Given the description of an element on the screen output the (x, y) to click on. 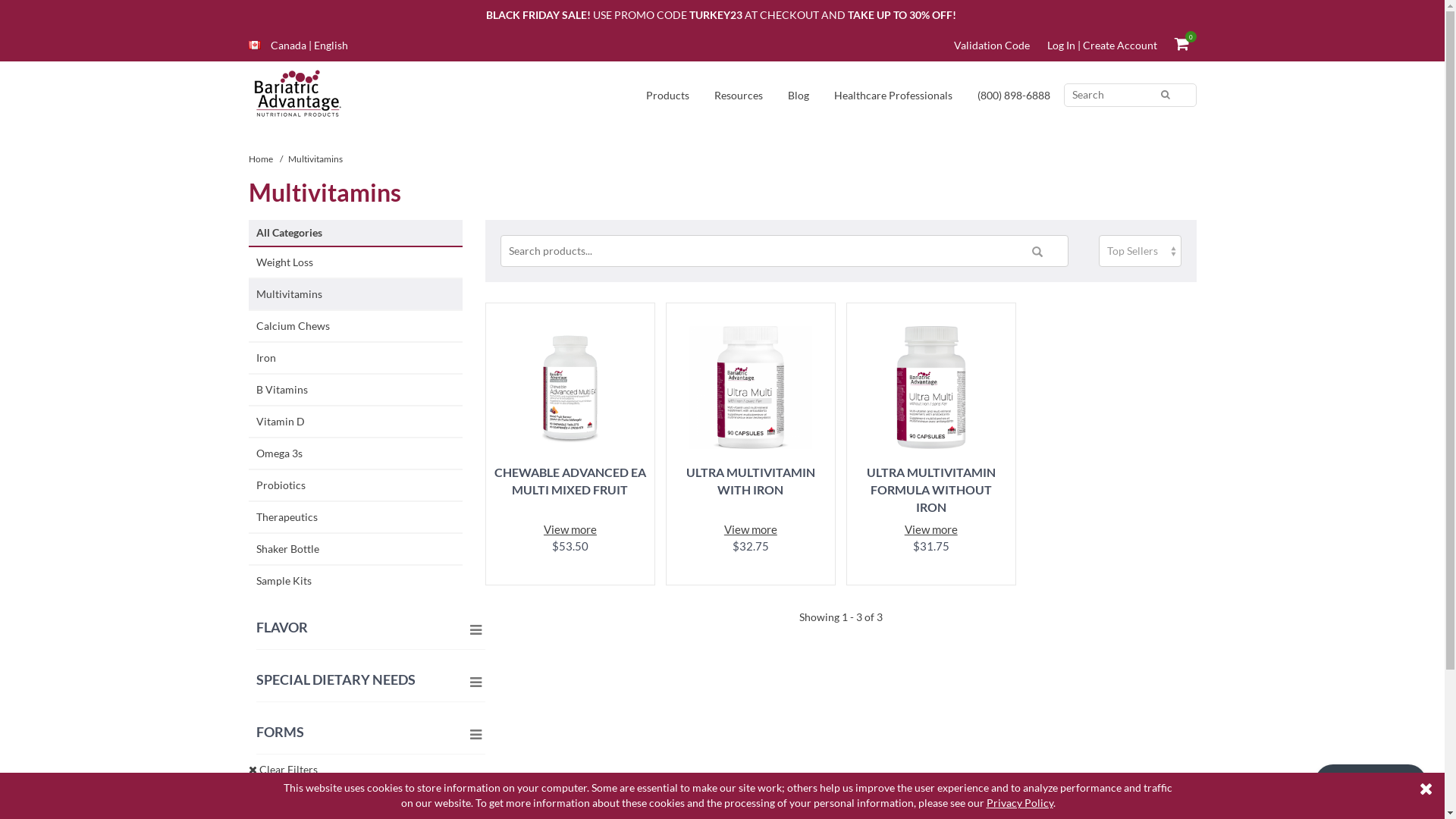
B Vitamins Element type: text (355, 390)
Omega 3s Element type: text (355, 454)
Clear Filters Element type: text (282, 768)
Weight Loss Element type: text (355, 263)
0 Element type: text (1180, 44)
Calcium Chews Element type: text (355, 326)
Privacy Policy Element type: text (1018, 803)
Healthcare Professionals Element type: text (893, 96)
Probiotics Element type: text (355, 486)
CHEWABLE ADVANCED EA MULTI MIXED FRUIT Element type: text (569, 489)
View more Element type: text (750, 529)
Home Element type: text (260, 158)
All Categories Element type: text (355, 233)
Vitamin D Element type: text (355, 422)
View more Element type: text (930, 529)
Shaker Bottle Element type: text (355, 549)
Multivitamins Element type: text (315, 158)
Therapeutics Element type: text (355, 517)
Resources Element type: text (738, 96)
ULTRA MULTIVITAMIN FORMULA WITHOUT IRON Element type: text (930, 489)
Blog Element type: text (797, 96)
View more Element type: text (569, 529)
Products Element type: text (667, 96)
Multivitamins Element type: text (355, 294)
Iron Element type: text (355, 358)
Log In | Create Account Element type: text (1101, 44)
ULTRA MULTIVITAMIN WITH IRON Element type: text (750, 489)
(800) 898-6888 Element type: text (1012, 94)
Sample Kits Element type: text (355, 581)
